Given the description of an element on the screen output the (x, y) to click on. 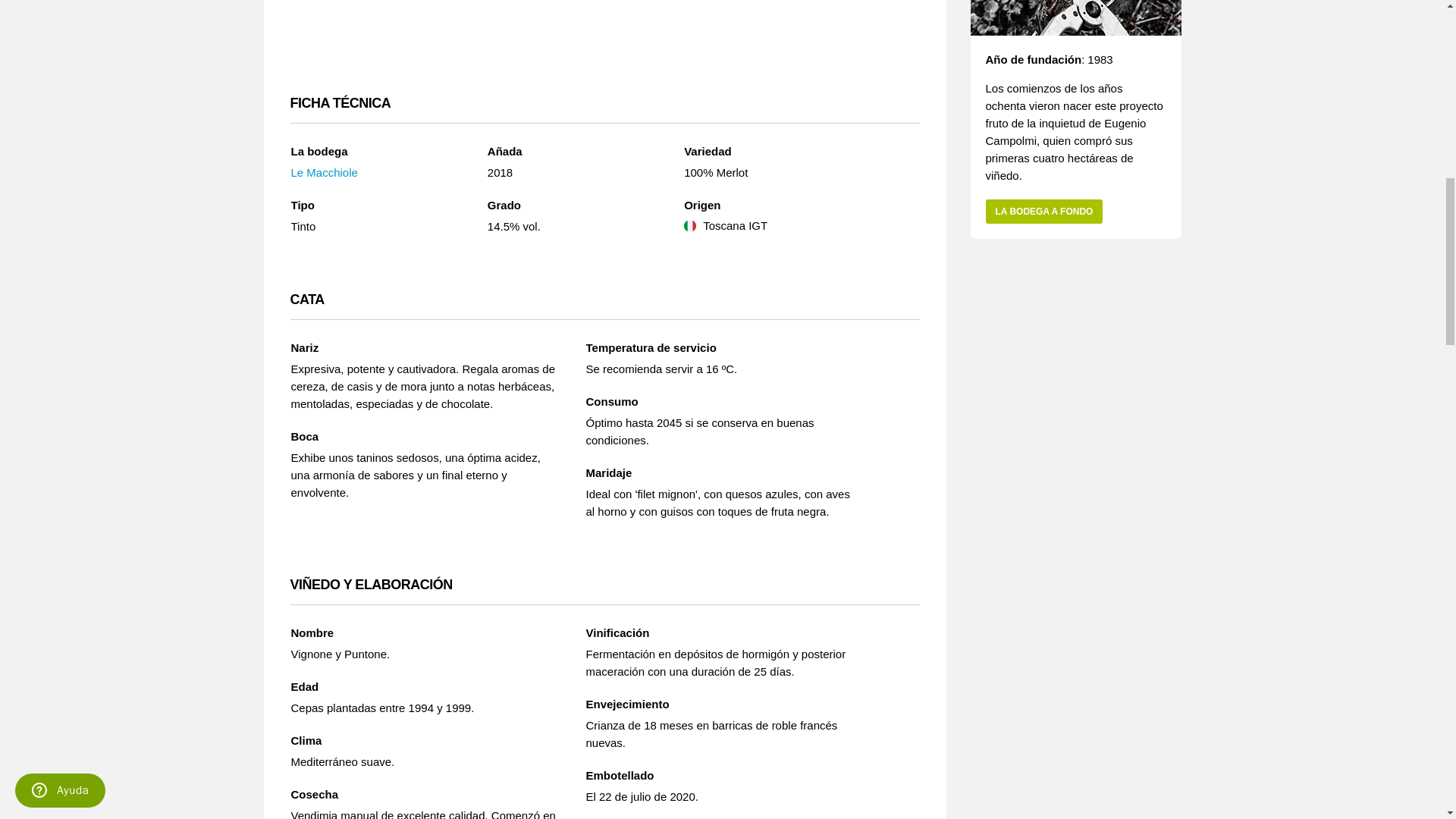
- (819, 41)
